Given the description of an element on the screen output the (x, y) to click on. 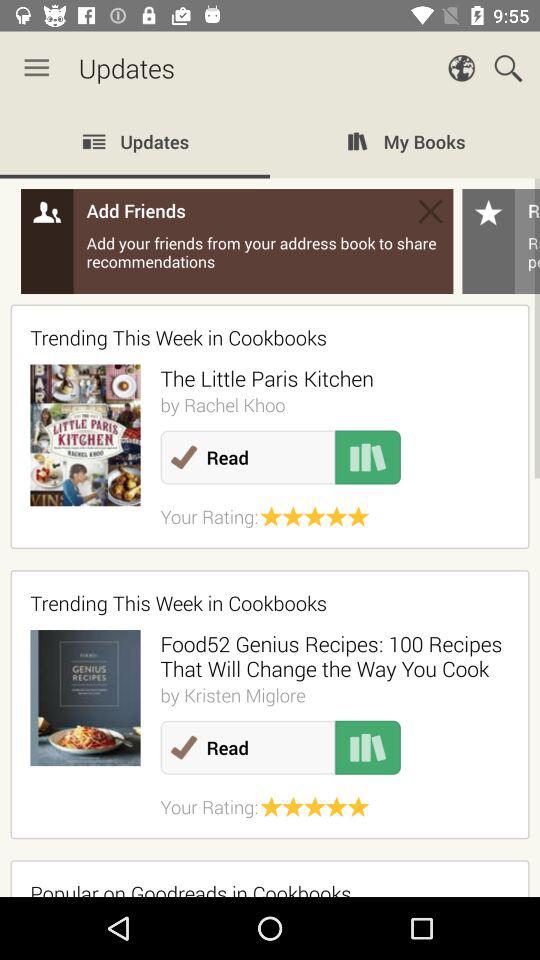
view updates (270, 501)
